Given the description of an element on the screen output the (x, y) to click on. 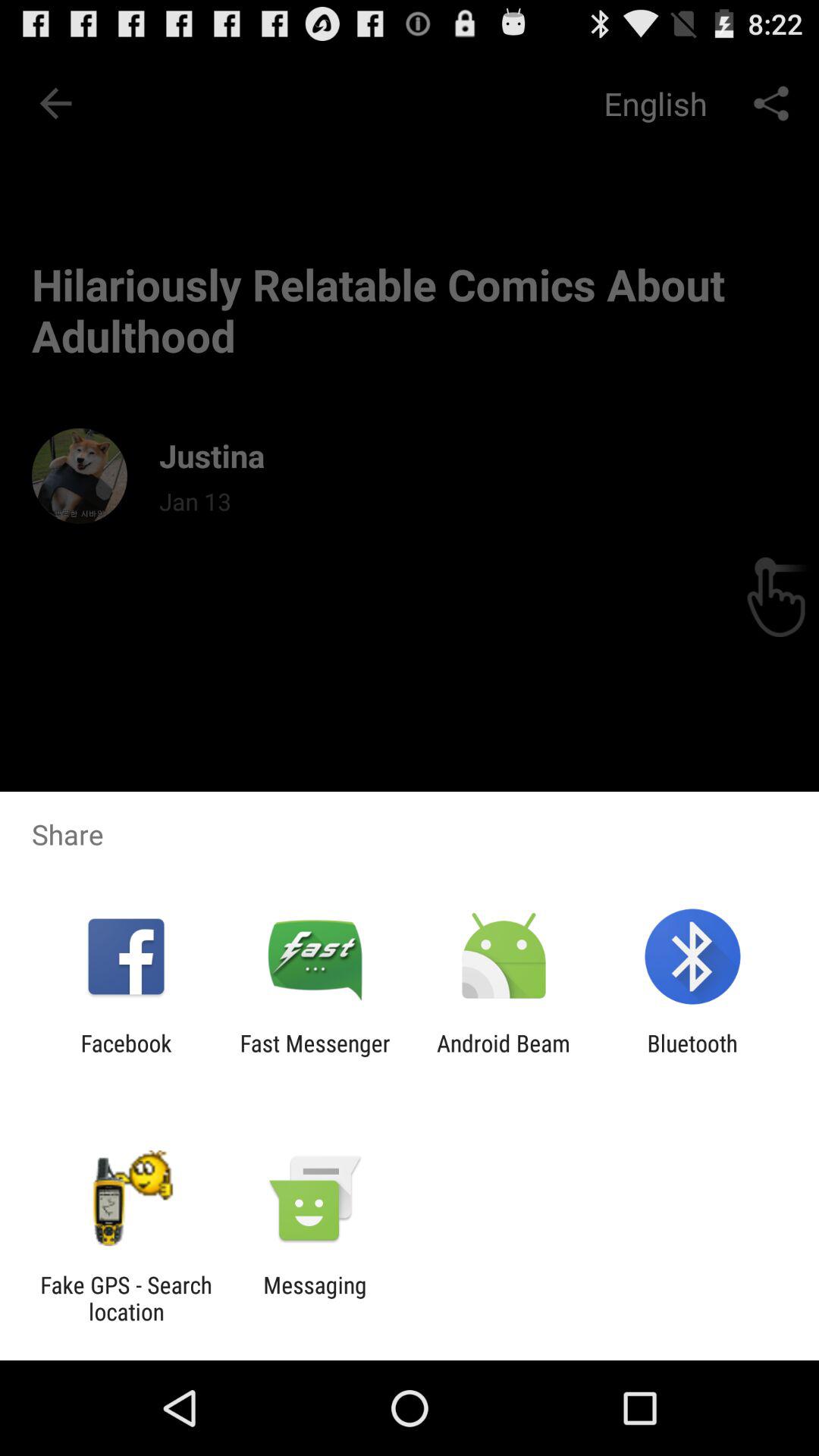
turn on fast messenger app (315, 1056)
